Given the description of an element on the screen output the (x, y) to click on. 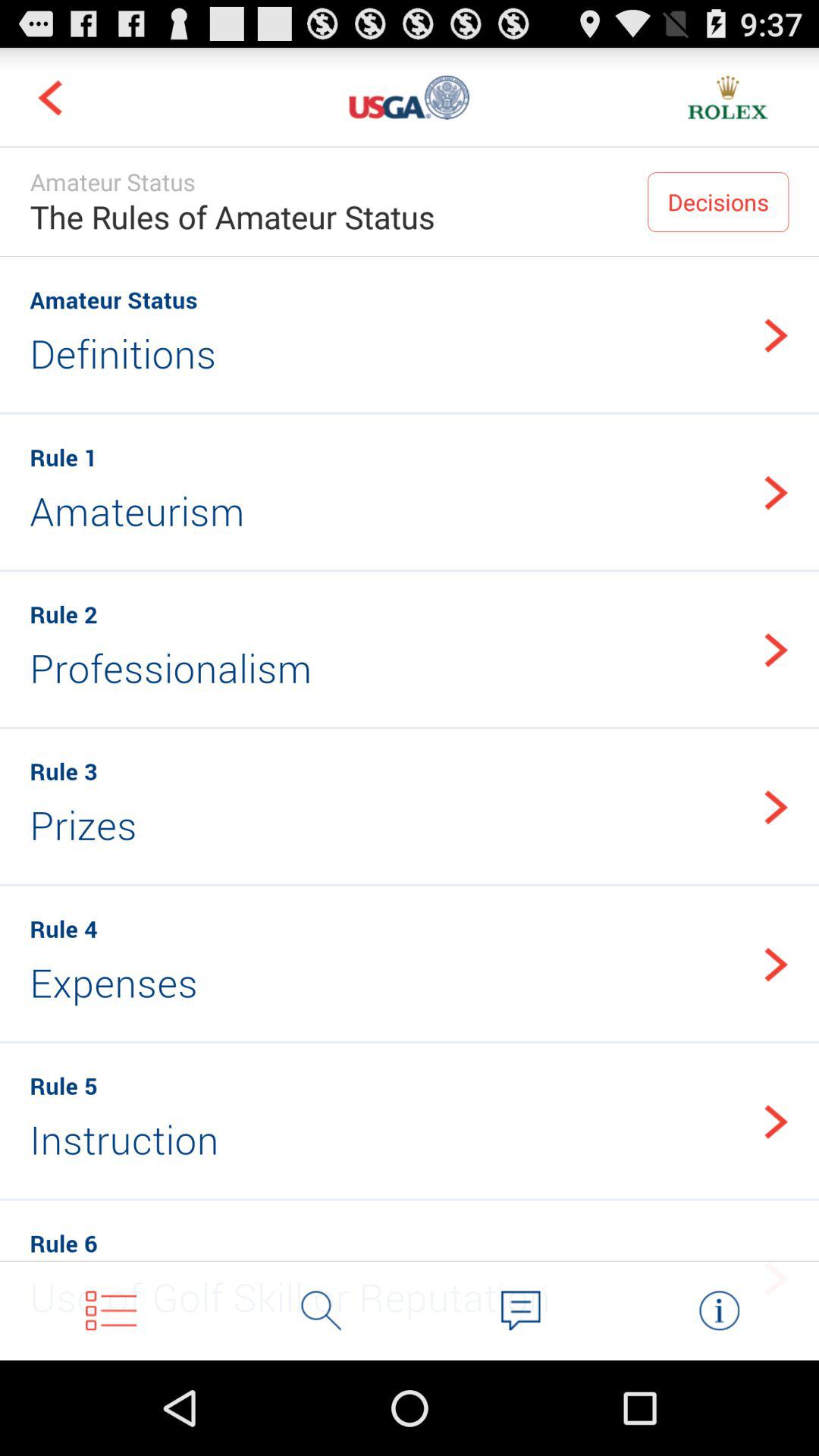
navigate to previous screen (49, 97)
